Given the description of an element on the screen output the (x, y) to click on. 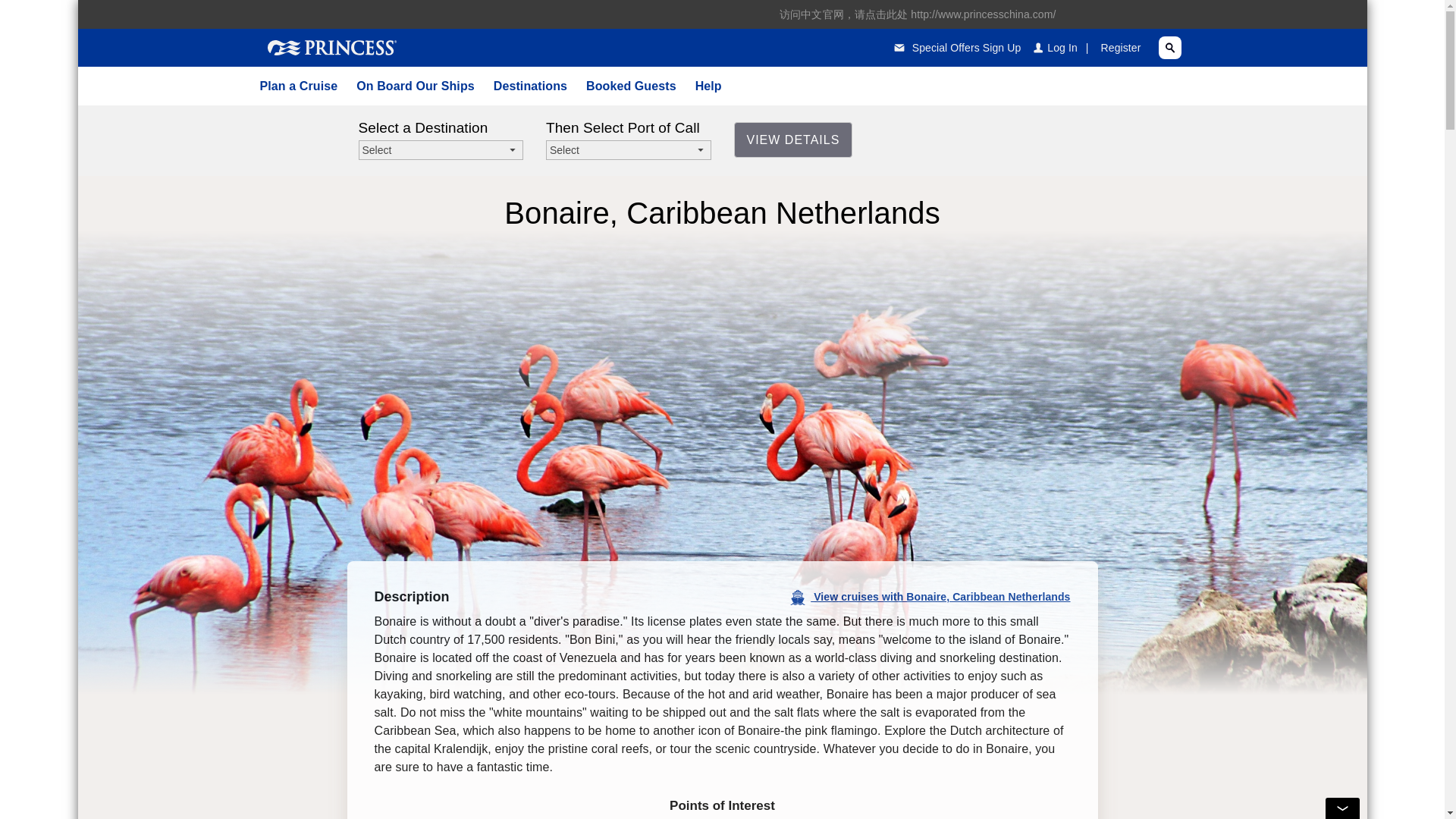
VIEW DETAILS (793, 140)
View cruises with Bonaire, Caribbean Netherlands (929, 597)
